Given the description of an element on the screen output the (x, y) to click on. 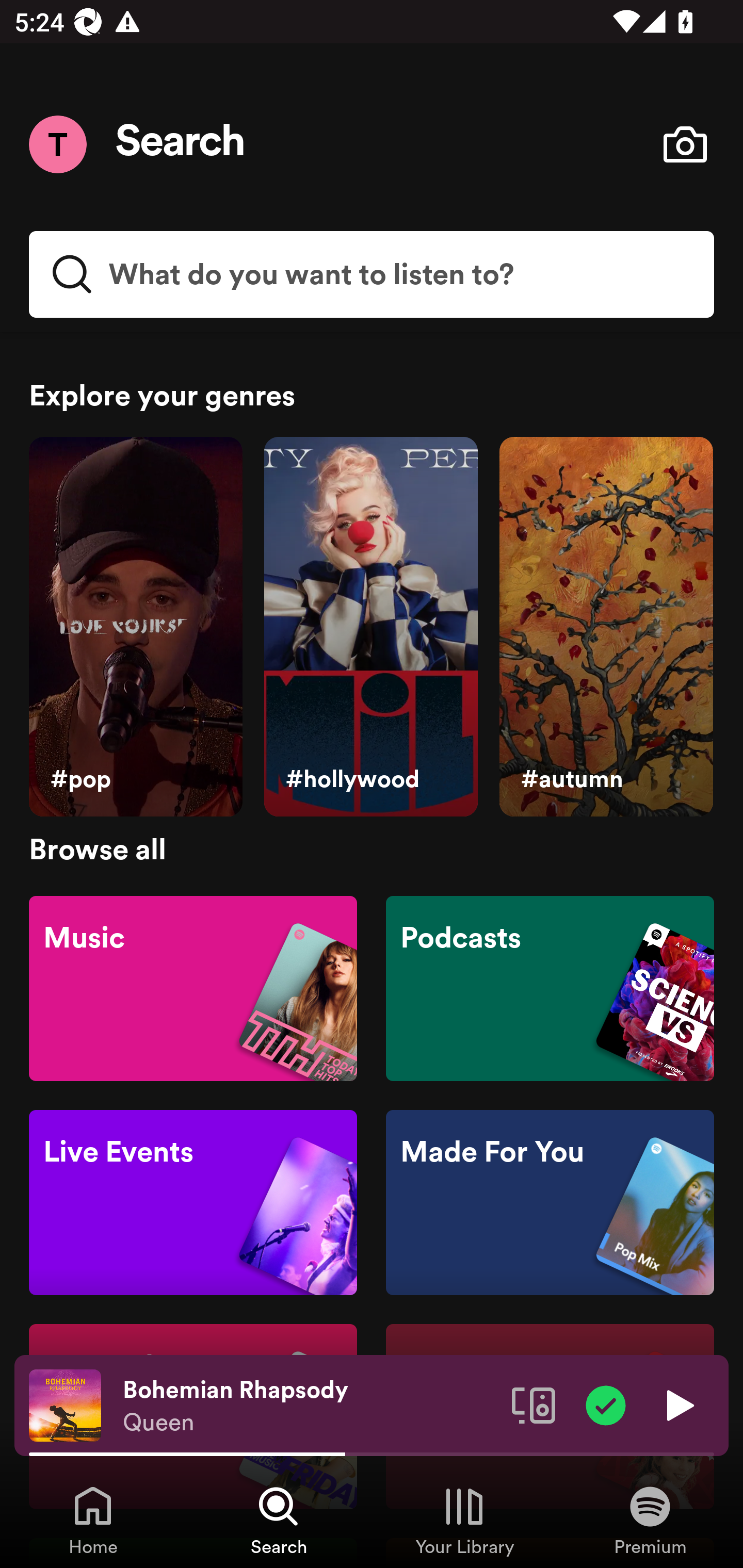
Menu (57, 144)
Open camera (685, 145)
Search (180, 144)
#pop (135, 626)
#hollywood (370, 626)
#autumn (606, 626)
Music (192, 987)
Podcasts (549, 987)
Live Events (192, 1202)
Made For You (549, 1202)
Bohemian Rhapsody Queen (309, 1405)
The cover art of the currently playing track (64, 1404)
Connect to a device. Opens the devices menu (533, 1404)
Item added (605, 1404)
Play (677, 1404)
Home, Tab 1 of 4 Home Home (92, 1519)
Search, Tab 2 of 4 Search Search (278, 1519)
Your Library, Tab 3 of 4 Your Library Your Library (464, 1519)
Premium, Tab 4 of 4 Premium Premium (650, 1519)
